Given the description of an element on the screen output the (x, y) to click on. 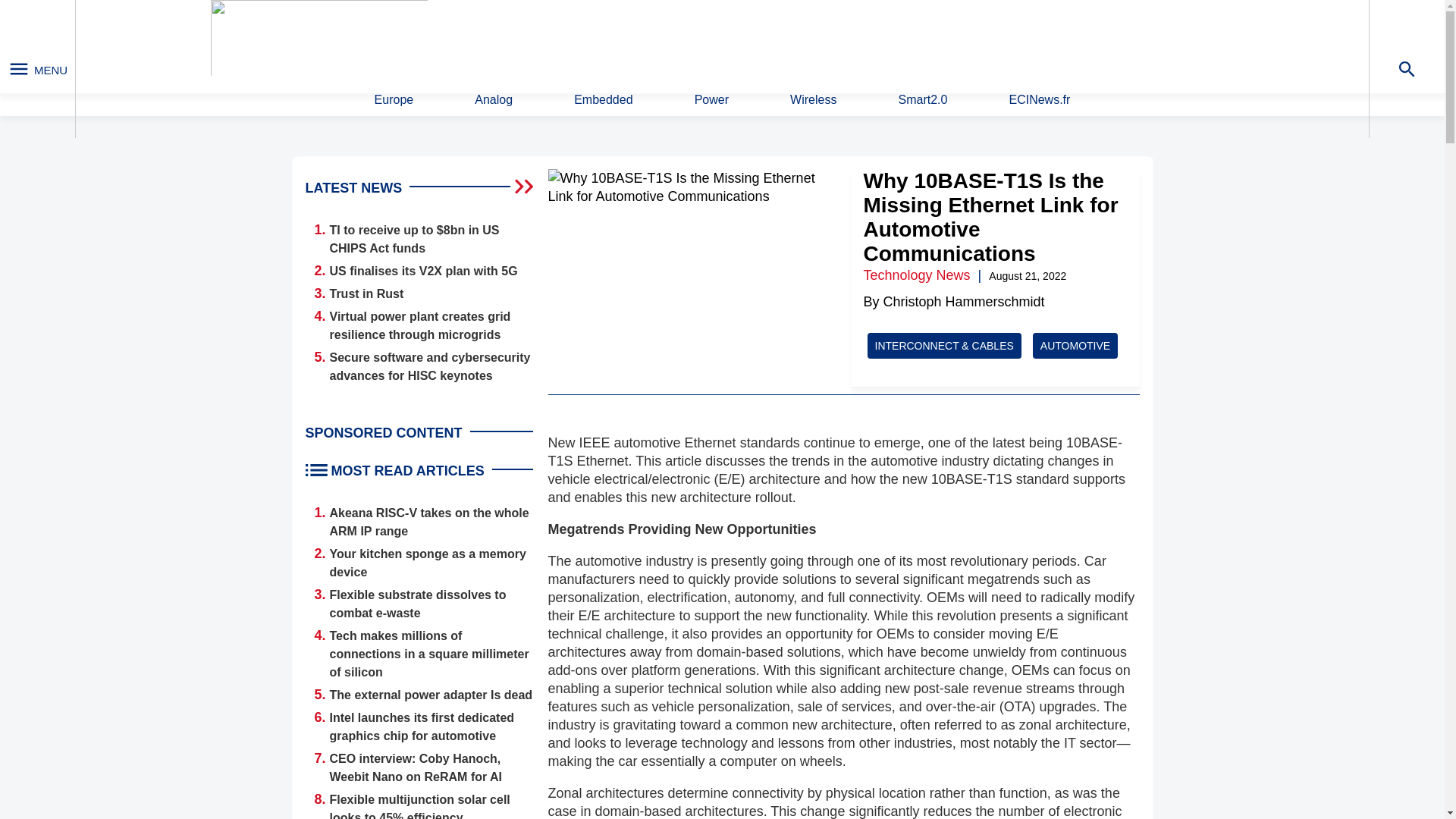
Analog (493, 99)
ECINews.fr (1039, 99)
Embedded (602, 99)
Europe (393, 99)
Power (711, 99)
Search (949, 40)
Wireless (812, 99)
Smart2.0 (922, 99)
